Given the description of an element on the screen output the (x, y) to click on. 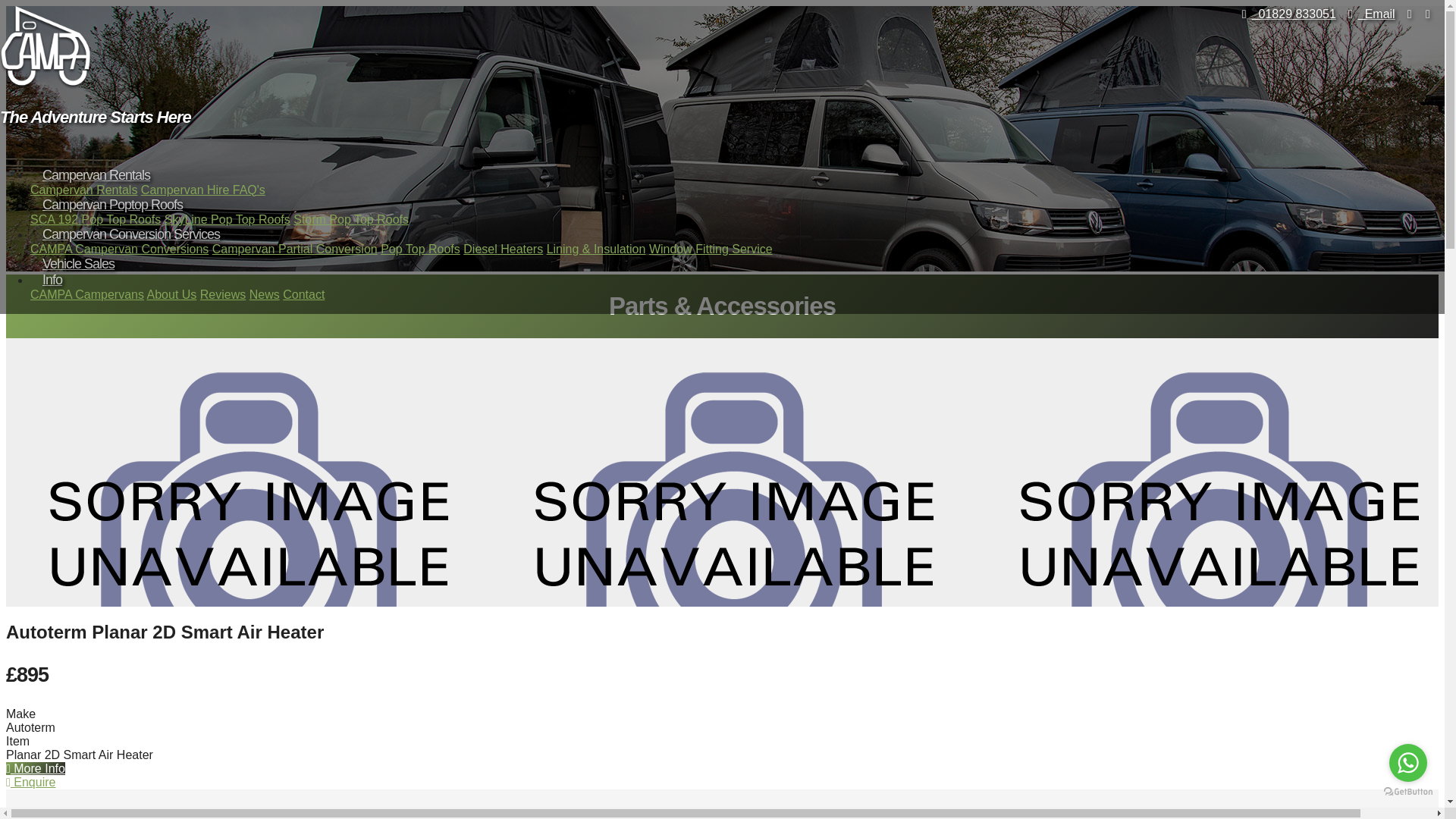
 01829 833051 (1286, 13)
About Us (171, 294)
Enquire (30, 781)
Follow us on Instagram (1428, 13)
Campervan Poptop Roofs (112, 204)
Email Us (1368, 13)
News (263, 294)
Pop Top Roofs (420, 248)
Campervan Rentals (83, 189)
Diesel Heaters (503, 248)
SCA 192 Pop Top Roofs (95, 218)
Window Fitting Service (711, 248)
Campervan Conversion Services (130, 233)
Like us on facebook (1409, 13)
Call Us (1286, 13)
